Given the description of an element on the screen output the (x, y) to click on. 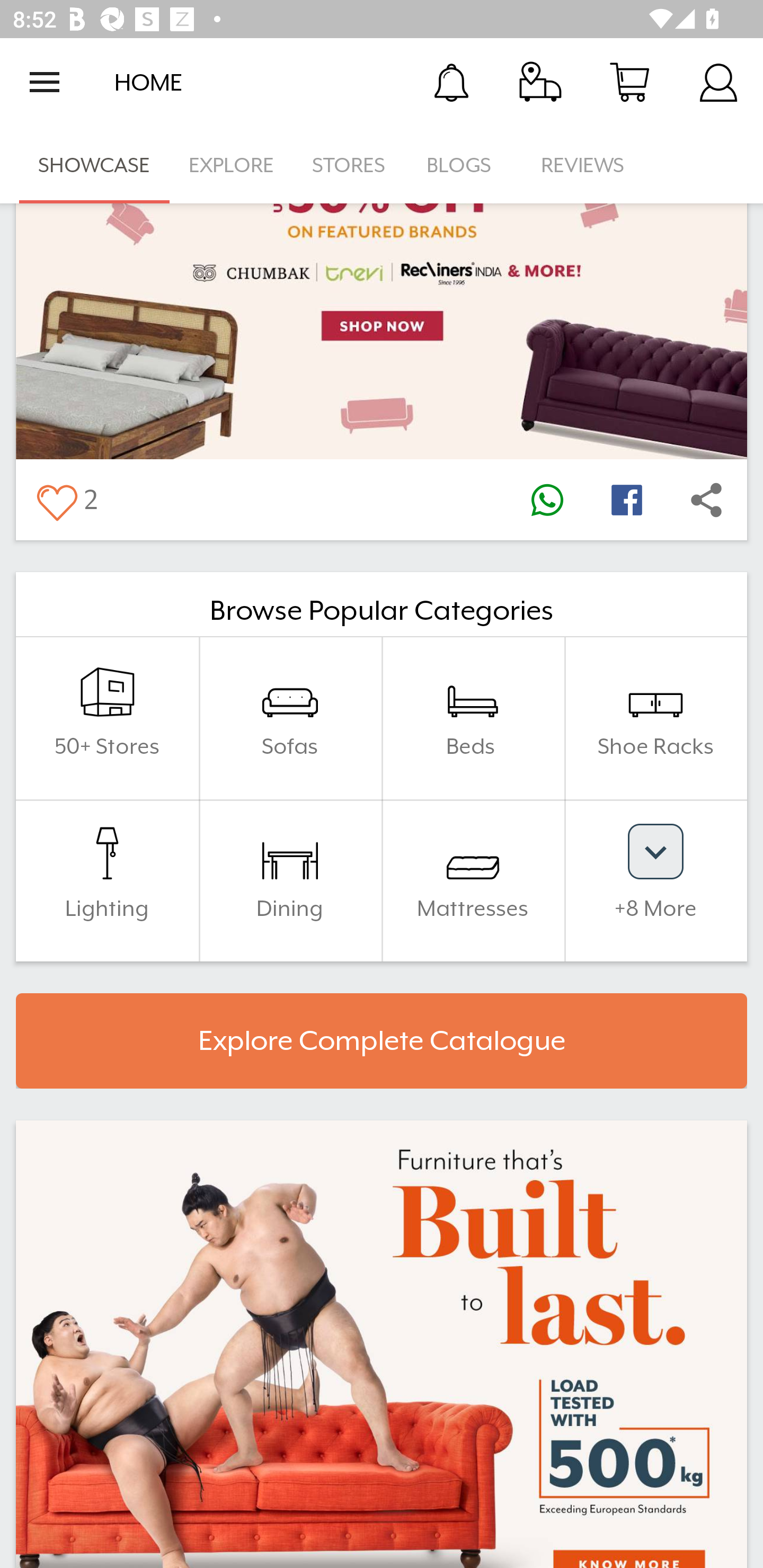
Open navigation drawer (44, 82)
Notification (450, 81)
Track Order (540, 81)
Cart (629, 81)
Account Details (718, 81)
SHOWCASE (94, 165)
EXPLORE (230, 165)
STORES (349, 165)
BLOGS (464, 165)
REVIEWS (582, 165)
 (55, 498)
 (547, 498)
 (626, 498)
 (706, 498)
50+ Stores (106, 718)
Sofas (289, 718)
Beds  (473, 718)
Shoe Racks (655, 718)
Lighting (106, 880)
Dining (289, 880)
Mattresses (473, 880)
 +8 More (655, 880)
Explore Complete Catalogue (381, 1040)
